Given the description of an element on the screen output the (x, y) to click on. 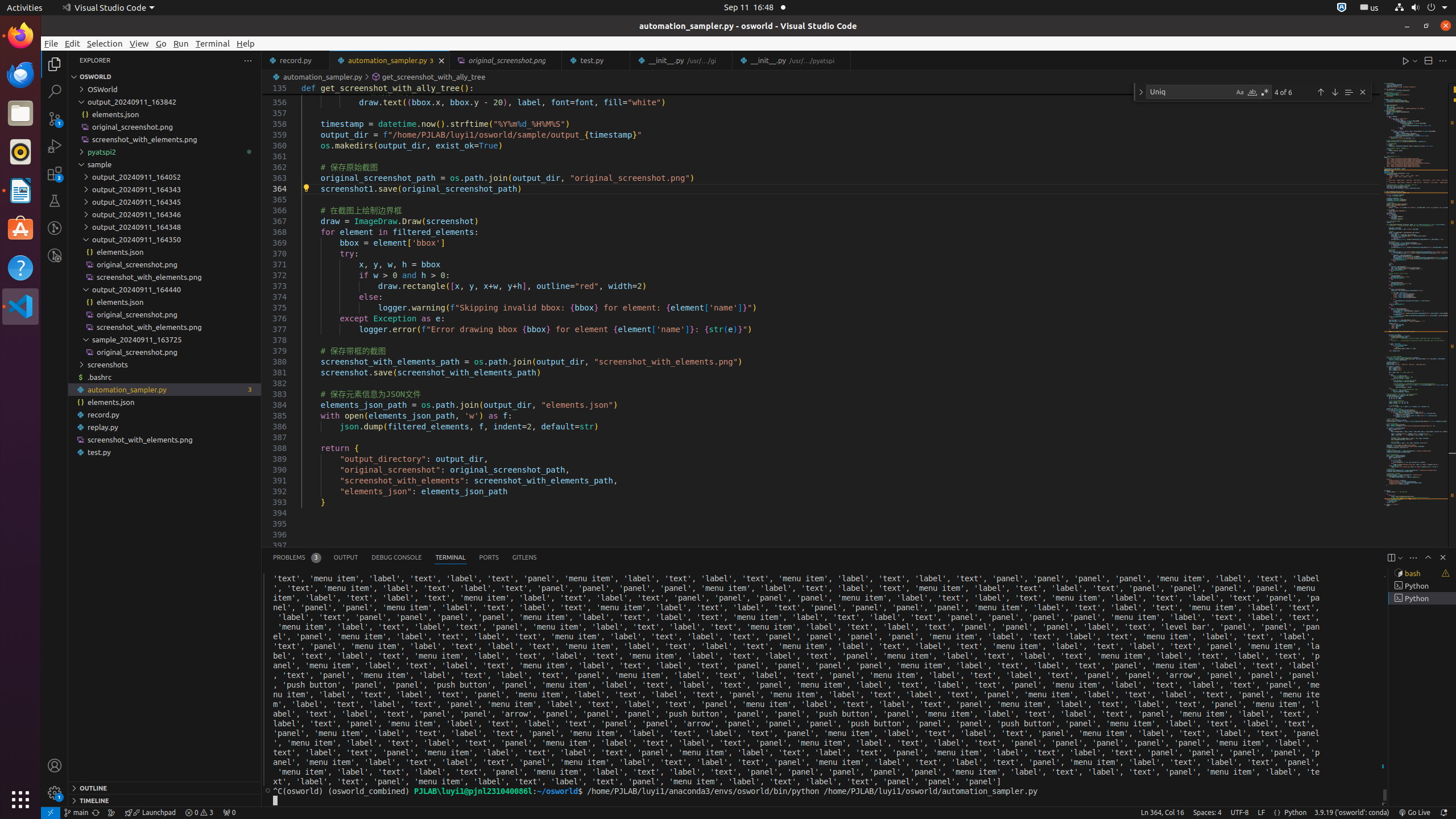
Files Explorer Element type: tree (164, 432)
Edit Element type: push-button (72, 43)
Terminal 5 Python Element type: list-item (1422, 598)
Show the GitLens Commit Graph Element type: push-button (111, 812)
